Given the description of an element on the screen output the (x, y) to click on. 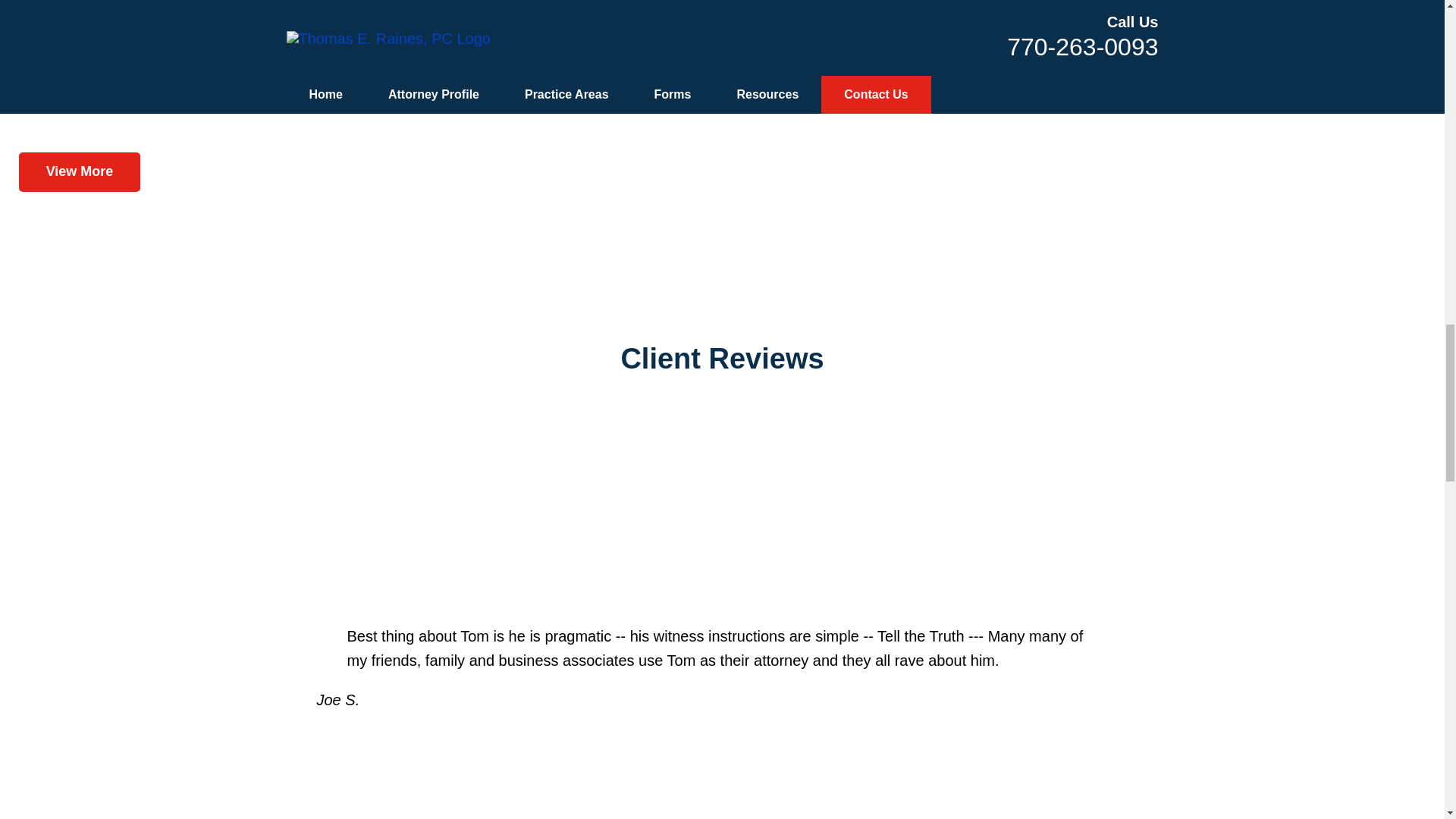
View More (78, 171)
Estate Planning Law (722, 78)
Probate and Estate Administration Law (722, 102)
Business Law (722, 53)
